Given the description of an element on the screen output the (x, y) to click on. 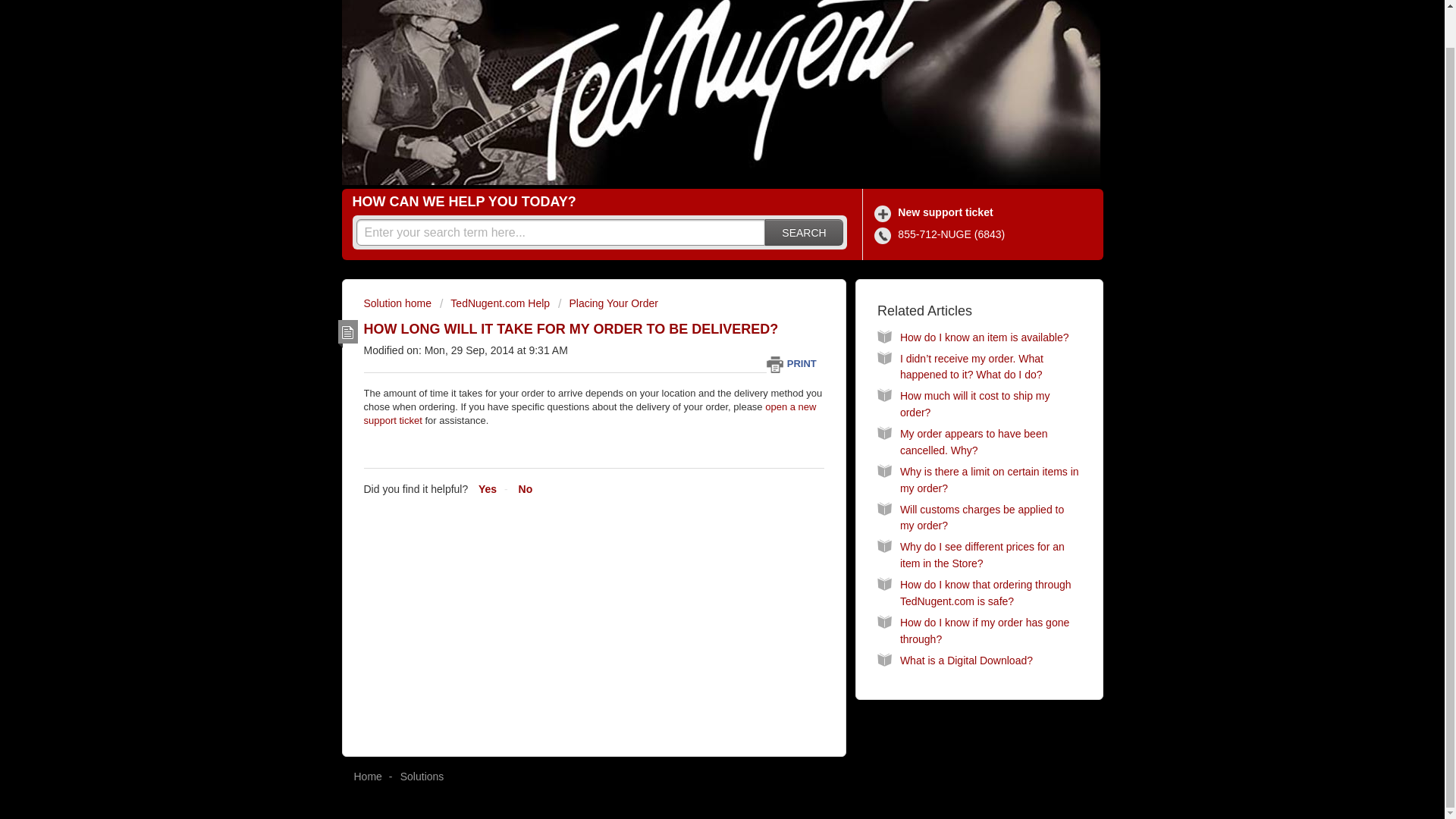
My order appears to have been cancelled. Why? (973, 441)
Home (367, 776)
New support ticket (935, 213)
SEARCH (804, 232)
Solutions (422, 776)
Placing Your Order (607, 303)
open a new support ticket (590, 413)
Will customs charges be applied to my order? (981, 517)
New support ticket (935, 213)
Print this Article (795, 363)
How do I know if my order has gone through? (983, 630)
How do I know that ordering through TedNugent.com is safe? (985, 592)
Solution home (398, 303)
How much will it cost to ship my order? (974, 403)
TedNugent.com Help (494, 303)
